Given the description of an element on the screen output the (x, y) to click on. 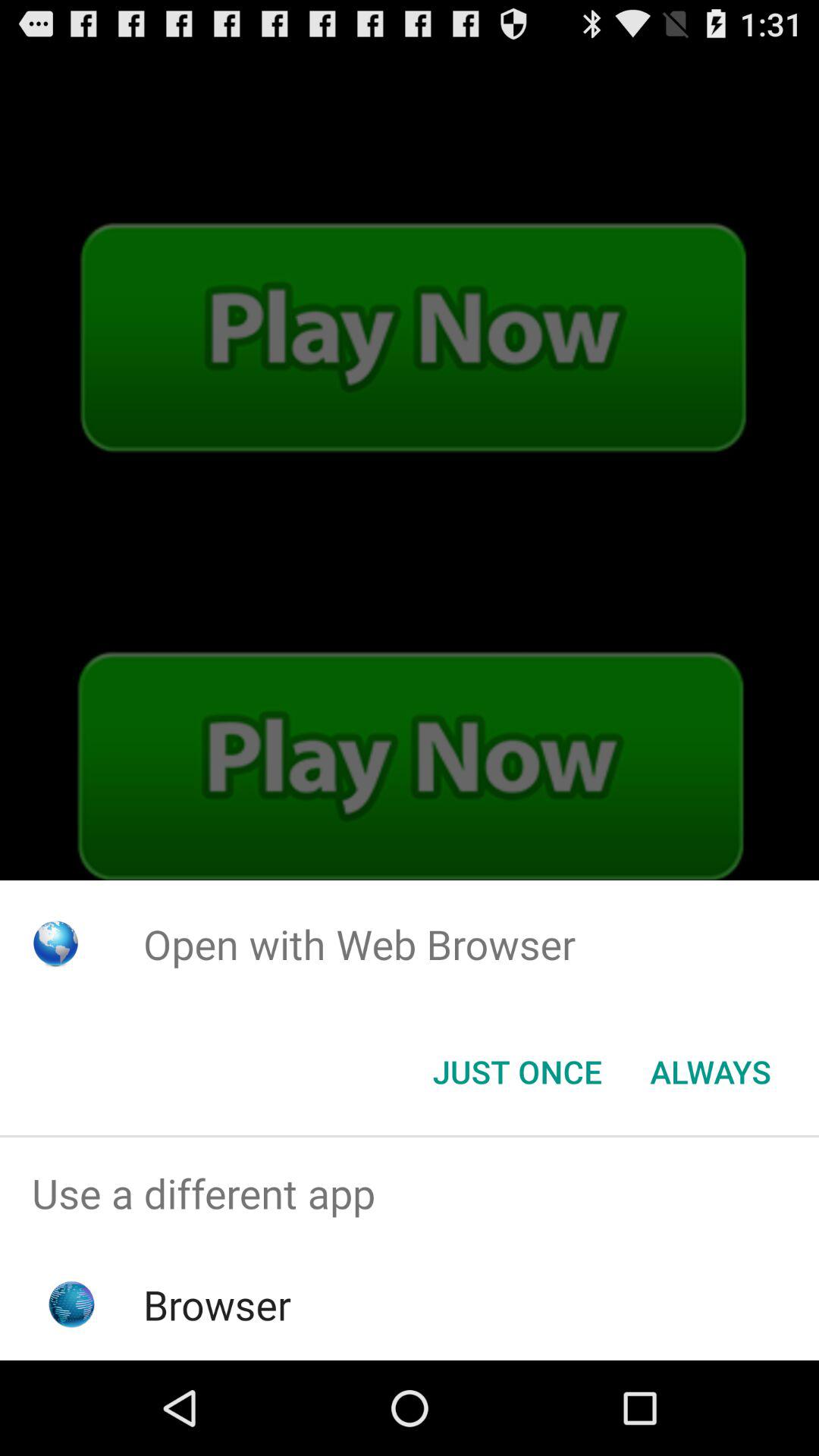
launch just once item (517, 1071)
